Given the description of an element on the screen output the (x, y) to click on. 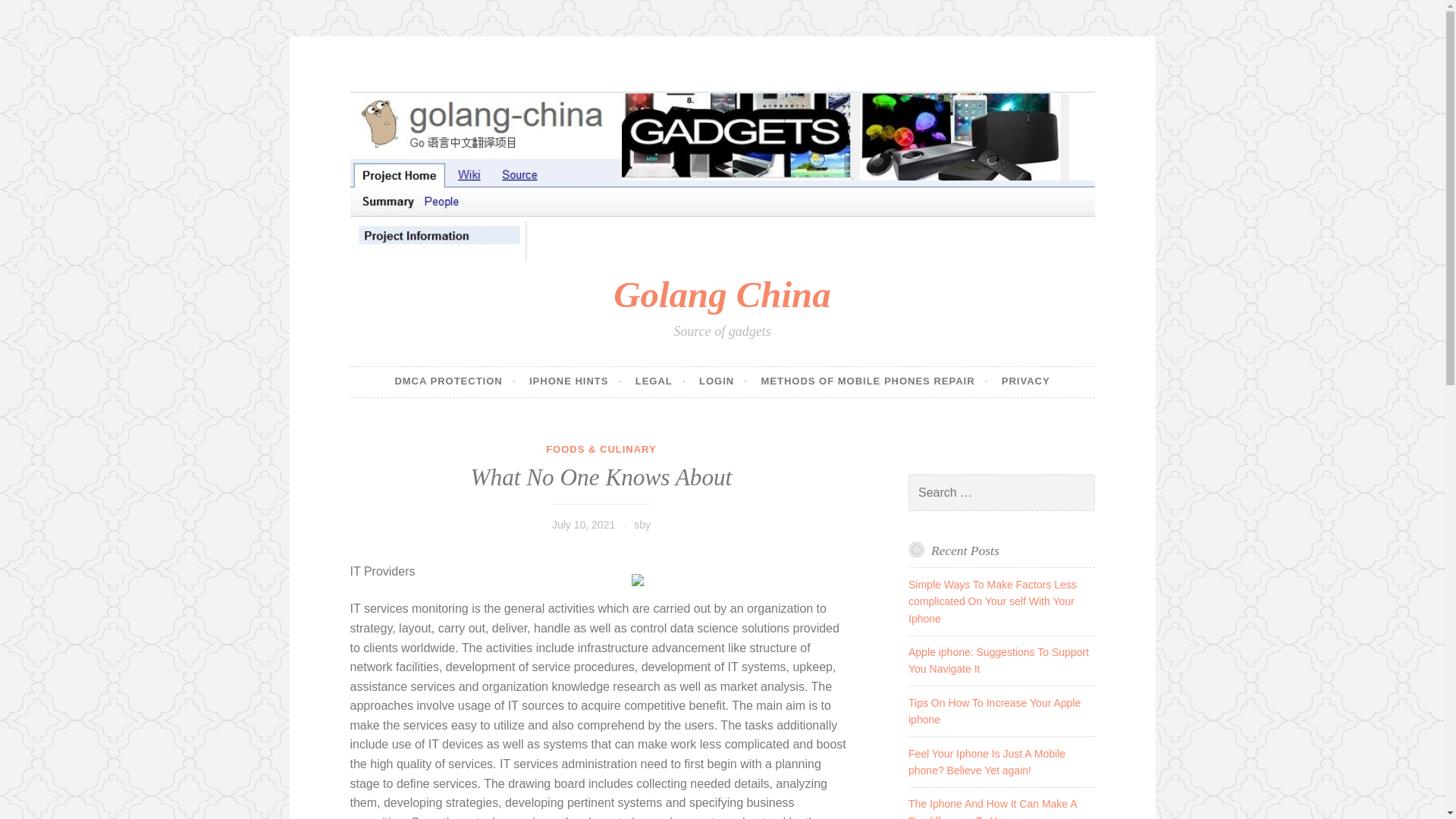
Tips On How To Increase Your Apple iphone (994, 710)
July 10, 2021 (582, 524)
PRIVACY (1025, 381)
LOGIN (723, 381)
Search (33, 13)
DMCA PROTECTION (454, 381)
LEGAL (659, 381)
Feel Your Iphone Is Just A Mobile phone? Believe Yet again! (986, 761)
METHODS OF MOBILE PHONES REPAIR (874, 381)
IPHONE HINTS (575, 381)
sby (641, 524)
Apple iphone: Suggestions To Support You Navigate It (998, 660)
The Iphone And How It Can Make A Big difference To You (992, 808)
